Given the description of an element on the screen output the (x, y) to click on. 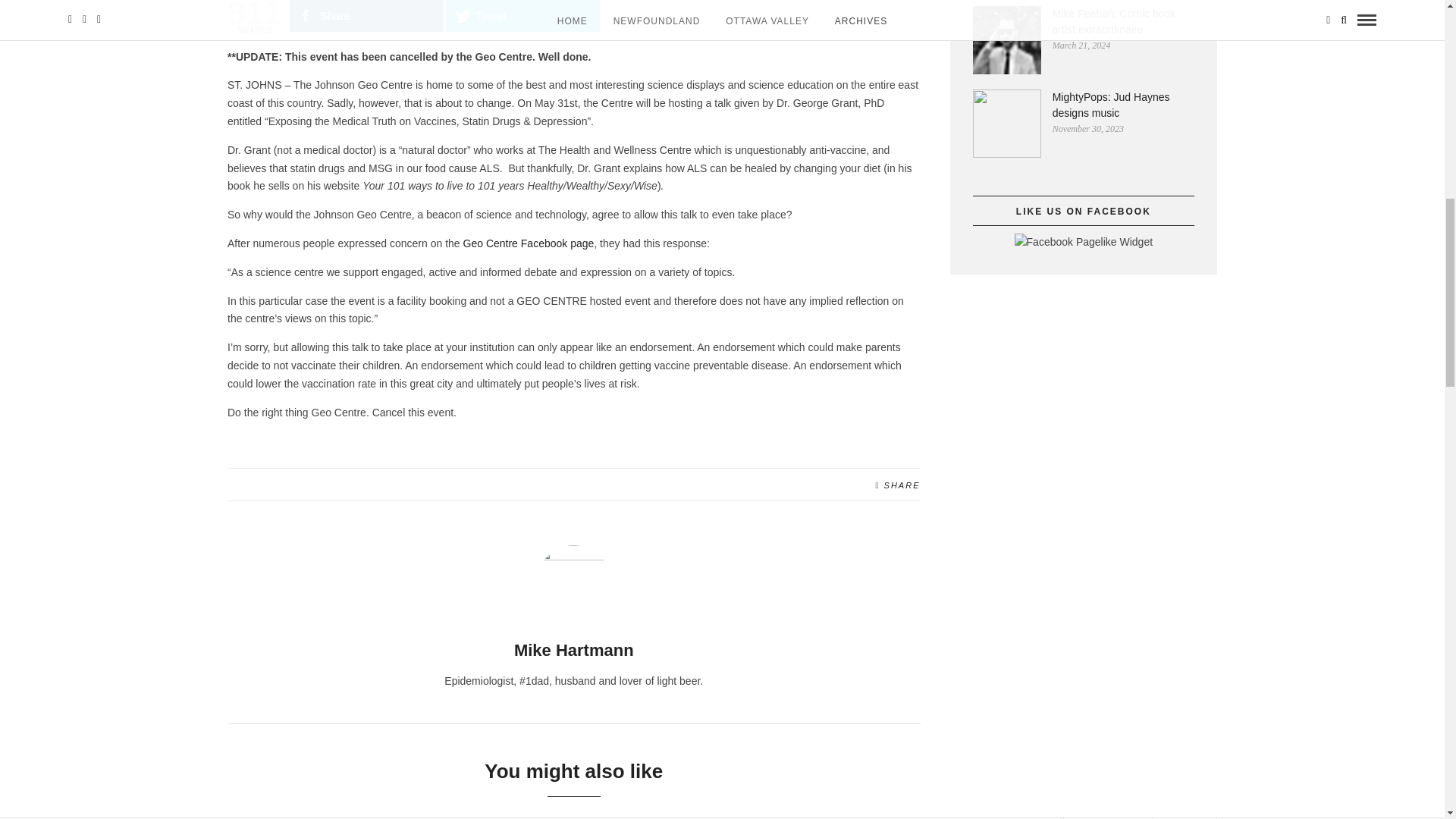
Share  (366, 15)
Geo Centre Facebook page (528, 243)
Tweet (522, 15)
